Given the description of an element on the screen output the (x, y) to click on. 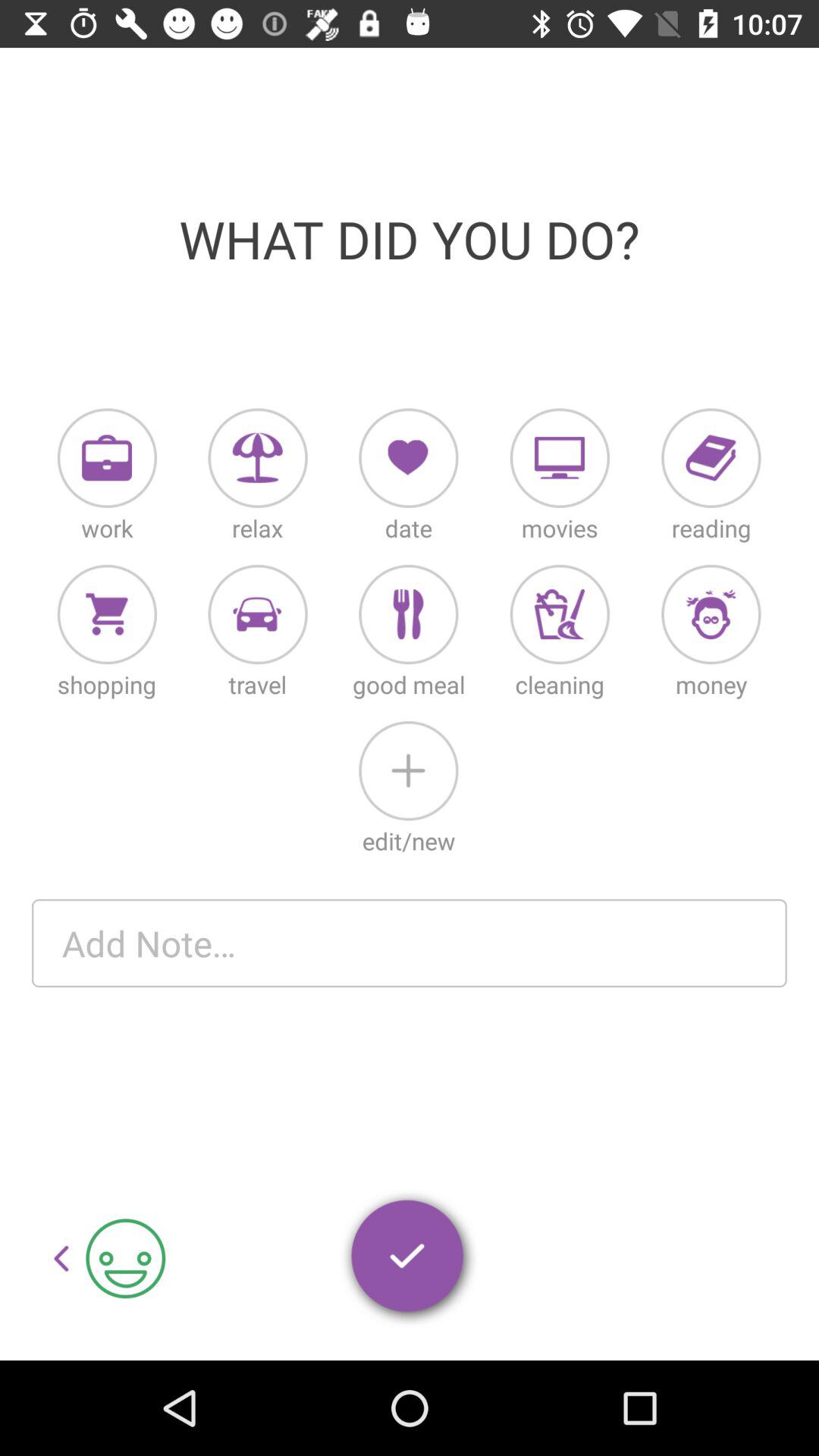
enter (408, 1258)
